Given the description of an element on the screen output the (x, y) to click on. 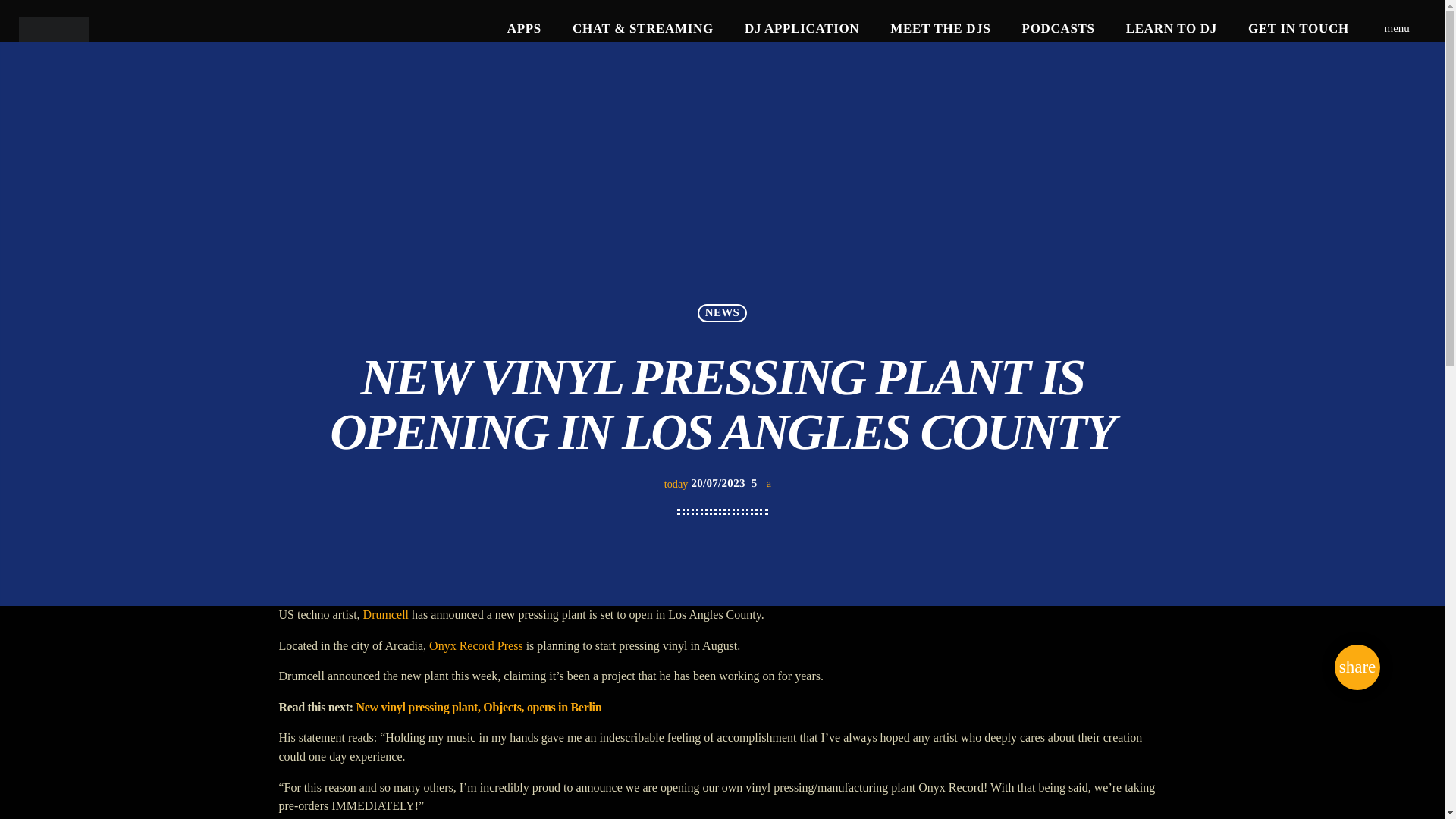
Drumcell (385, 614)
LEARN TO DJ (1170, 29)
APPS (524, 29)
PODCASTS (1057, 29)
MEET THE DJS (940, 29)
email (1357, 666)
DJ APPLICATION (802, 29)
NEWS (721, 312)
menu (1396, 28)
GET IN TOUCH (1297, 29)
